Given the description of an element on the screen output the (x, y) to click on. 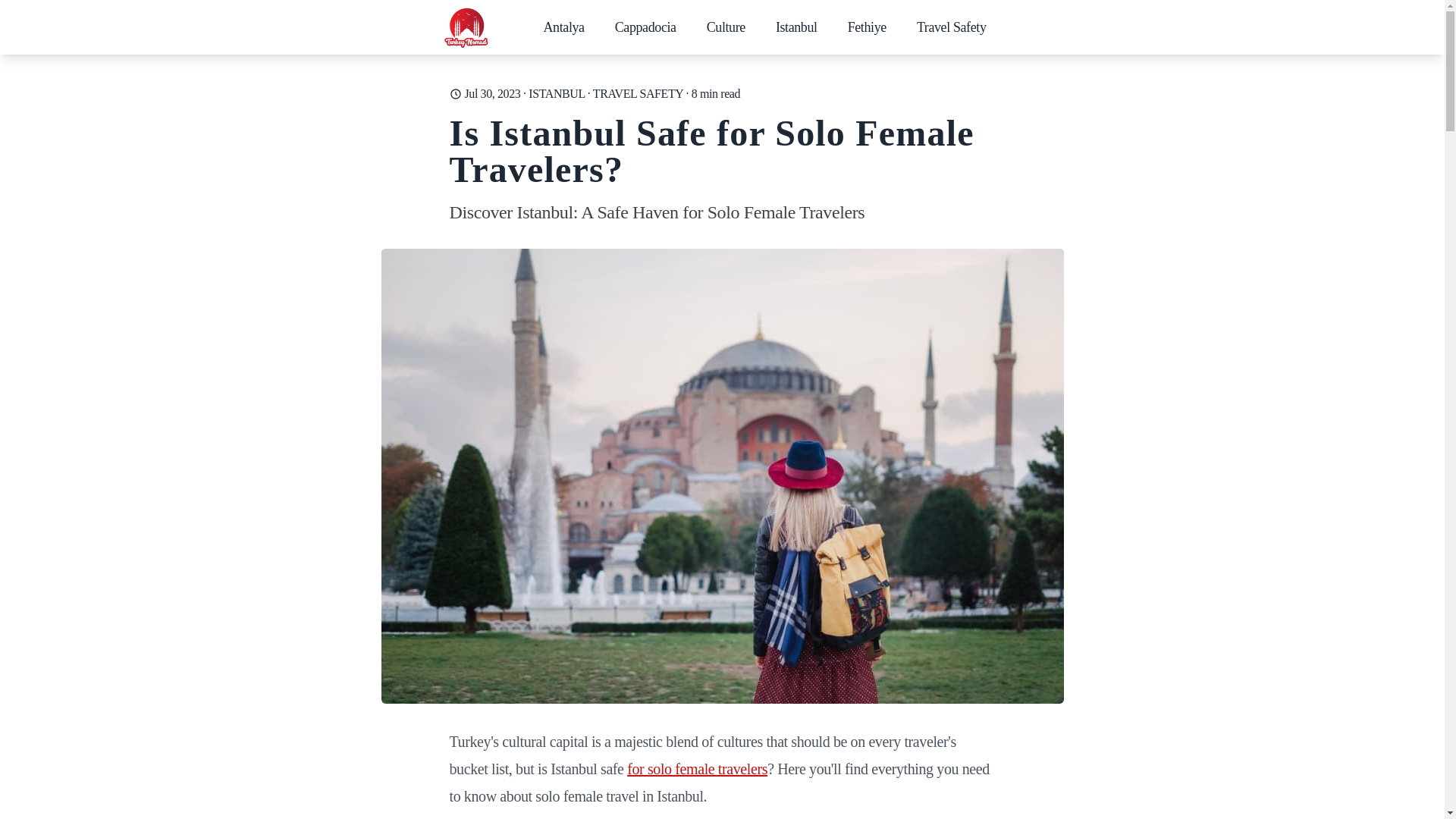
Antalya (564, 26)
Travel Safety (951, 26)
TRAVEL SAFETY (637, 92)
Culture (725, 26)
Istanbul (797, 26)
Fethiye (866, 26)
Cappadocia (645, 26)
ISTANBUL (556, 92)
for solo female travelers (697, 768)
